Given the description of an element on the screen output the (x, y) to click on. 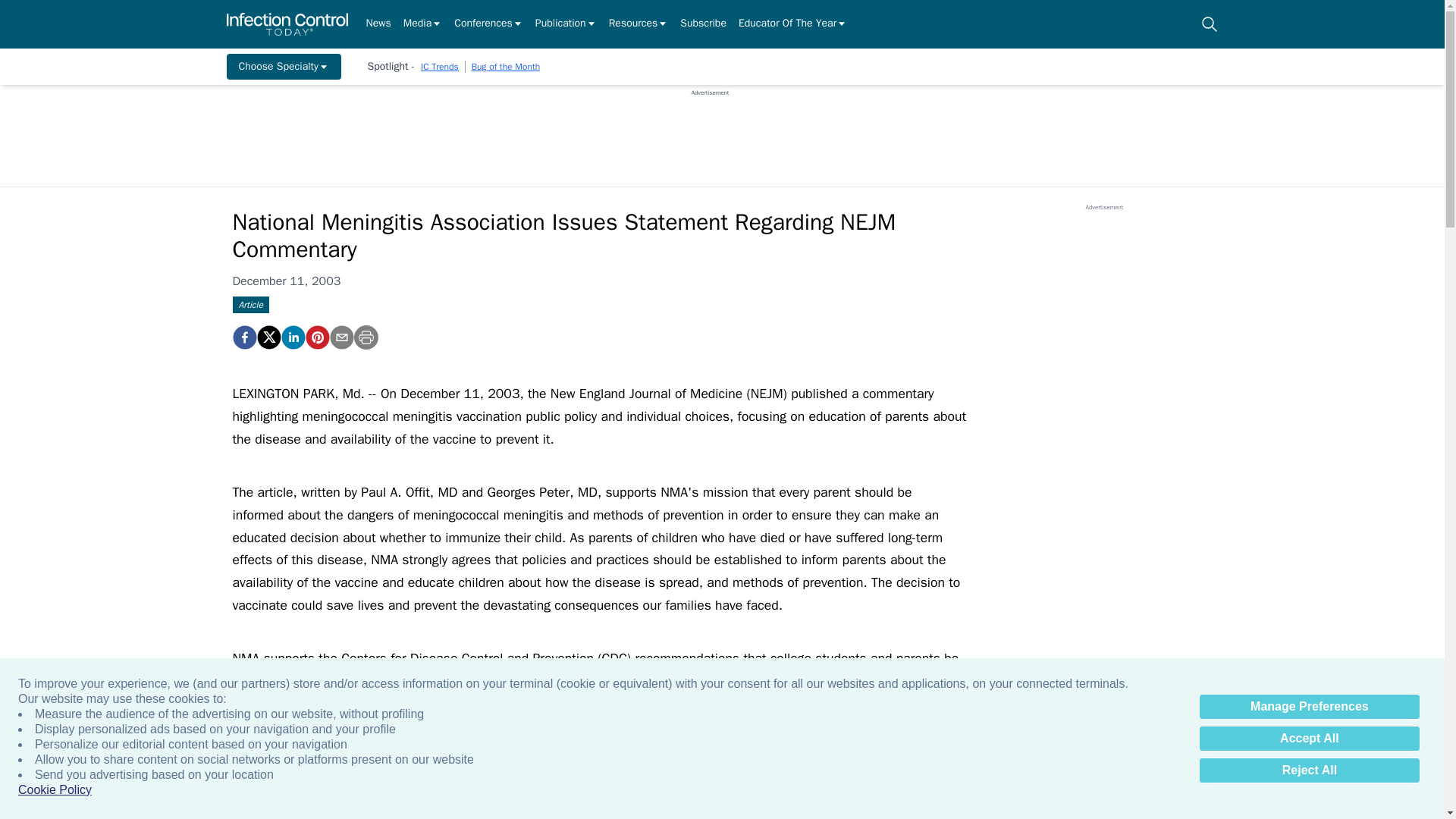
Accept All (1309, 738)
Conferences (488, 23)
Resources (638, 23)
Educator Of The Year (792, 23)
Subscribe (702, 23)
Media (422, 23)
Publication (565, 23)
Manage Preferences (1309, 706)
News (377, 23)
Reject All (1309, 769)
Cookie Policy (54, 789)
3rd party ad content (709, 131)
